Given the description of an element on the screen output the (x, y) to click on. 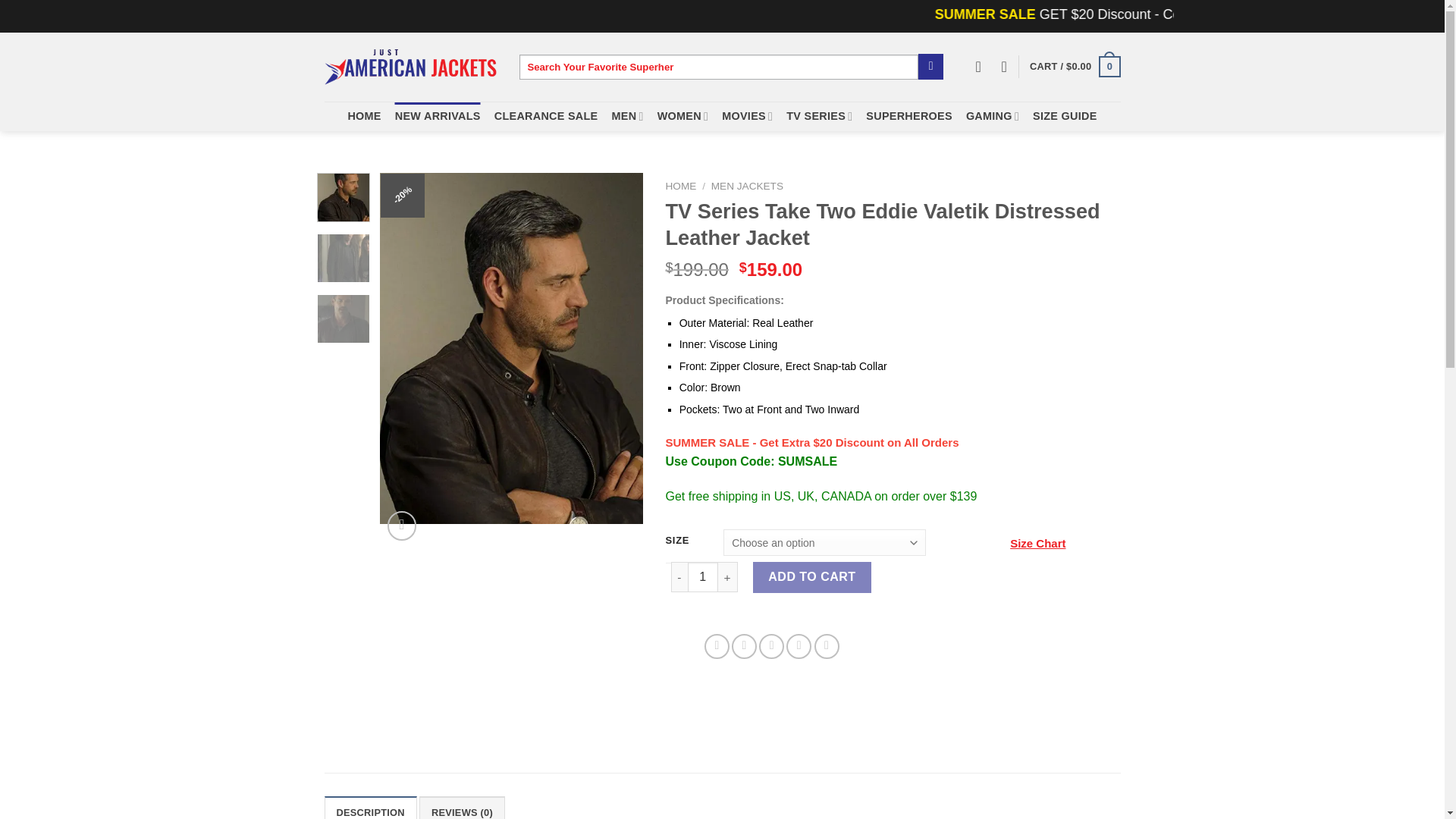
CLEARANCE SALE (546, 115)
Qty (702, 576)
1 (702, 576)
Cart (1074, 66)
Search (930, 66)
MEN (627, 116)
WOMEN (683, 116)
MOVIES (747, 116)
NEW ARRIVALS (437, 115)
TV SERIES (818, 116)
